Given the description of an element on the screen output the (x, y) to click on. 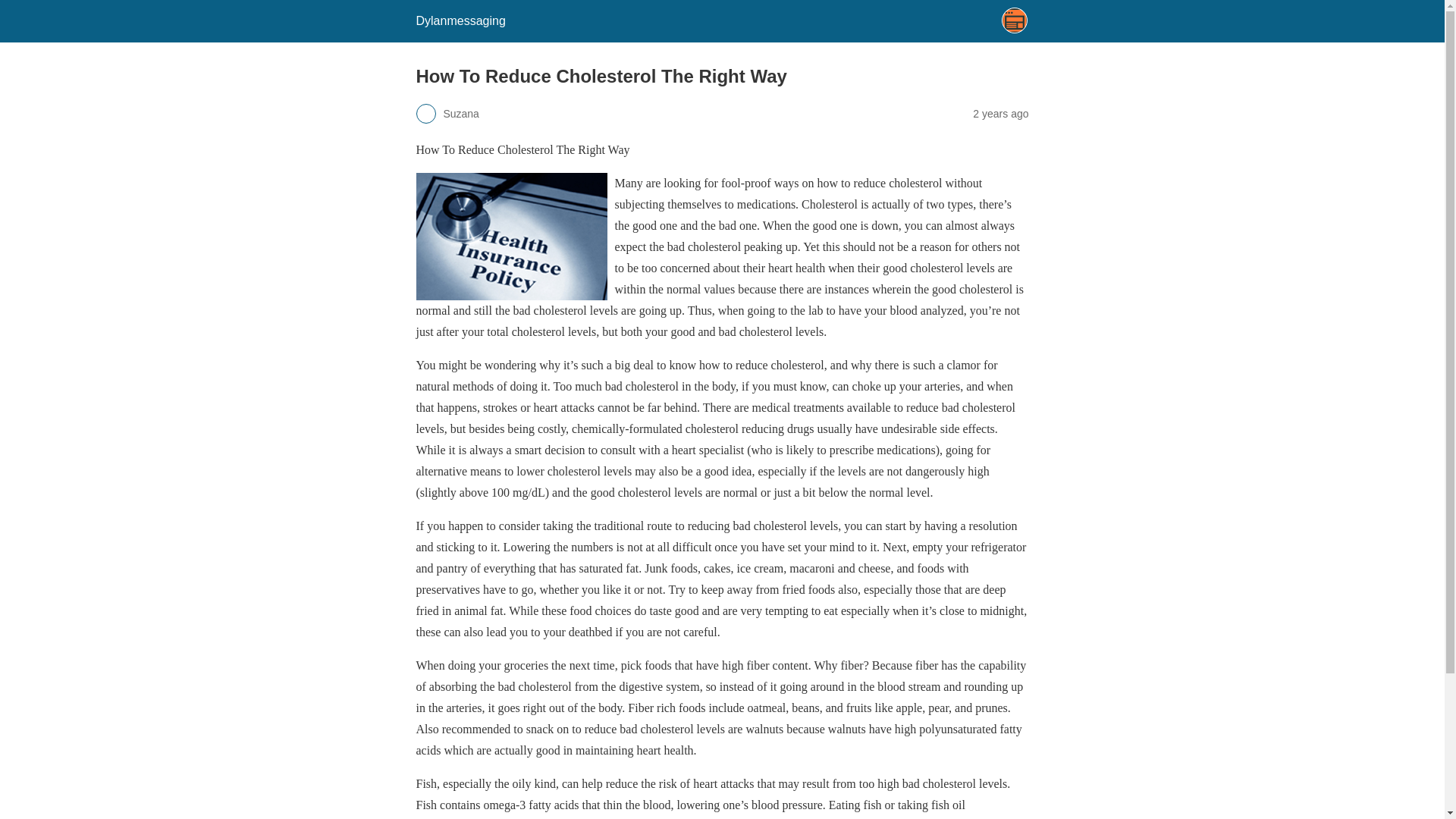
Dylanmessaging (459, 20)
